Given the description of an element on the screen output the (x, y) to click on. 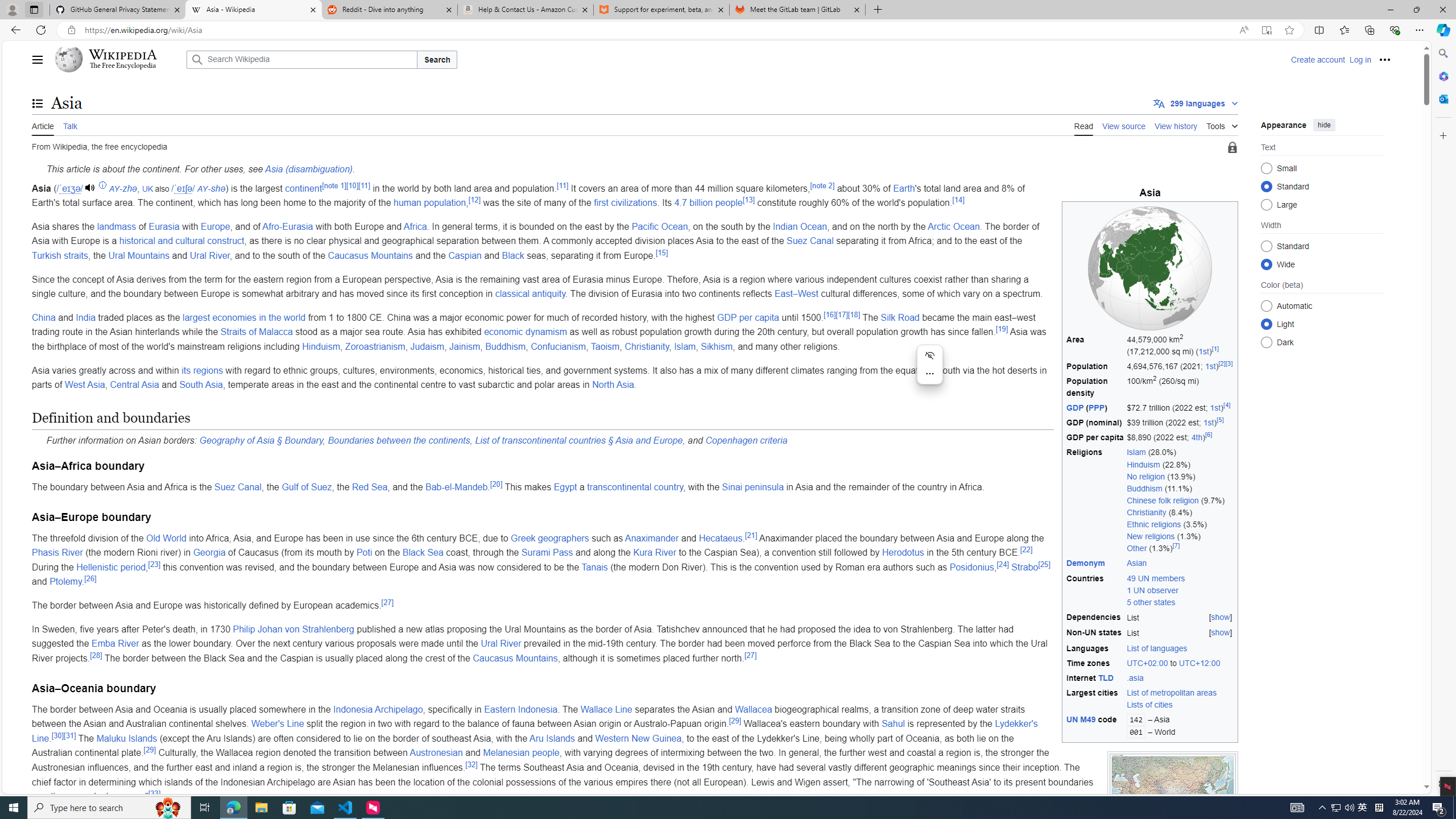
Boundaries between the continents (398, 439)
Islam (28.0%) (1180, 452)
[20] (495, 483)
.asia (1179, 678)
TLD (1105, 678)
Languages (1095, 648)
PPP (1096, 407)
[32] (471, 764)
[16] (829, 314)
UTC+02:00 to UTC+12:00 (1179, 663)
To get missing image descriptions, open the context menu. (1149, 267)
Lists of cities (1149, 705)
GDP per capita (1095, 437)
